Given the description of an element on the screen output the (x, y) to click on. 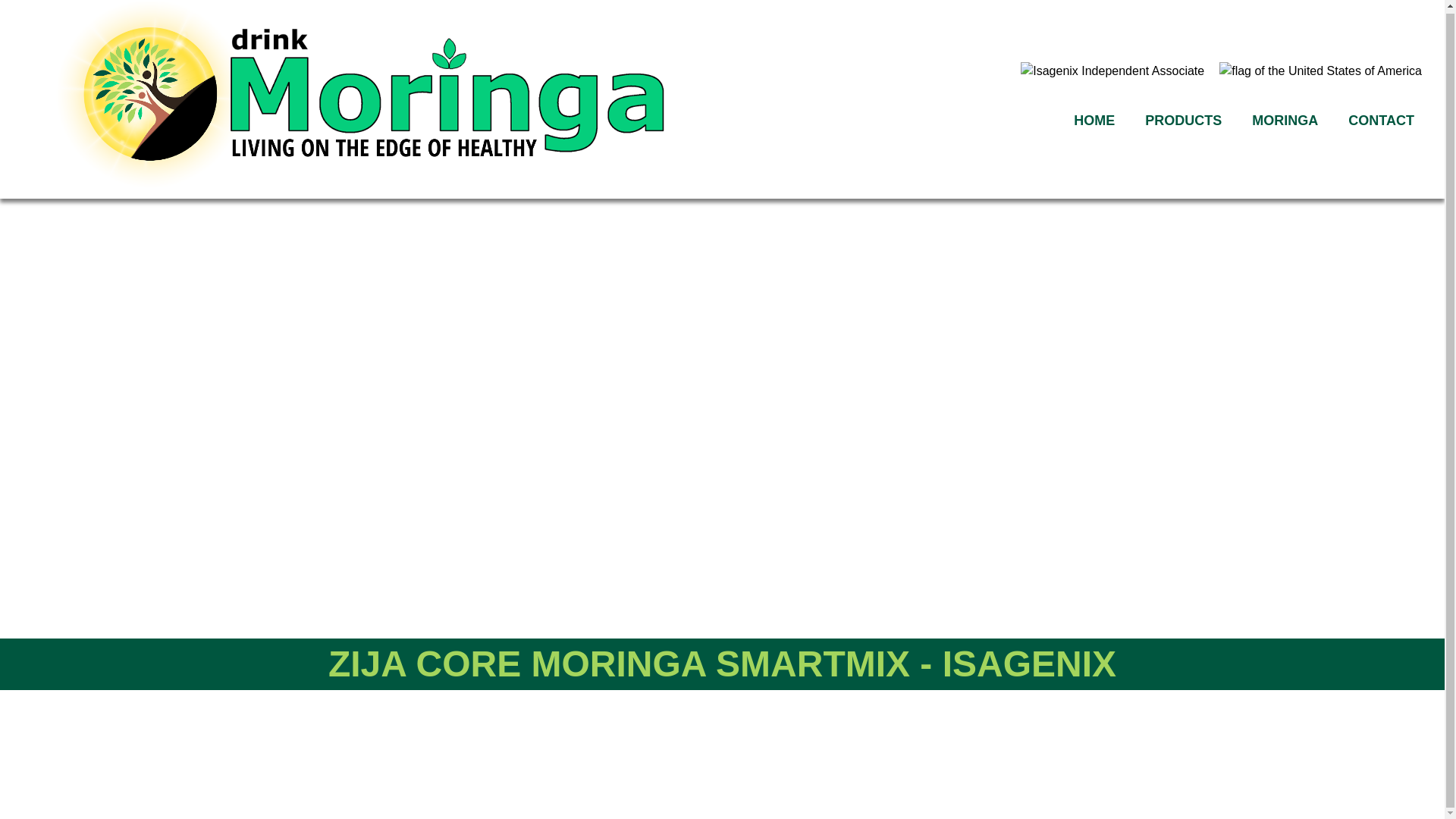
HOME (1093, 120)
Isagenix Independent Associate (1112, 71)
PRODUCTS (1182, 120)
American Flag (1321, 71)
